Given the description of an element on the screen output the (x, y) to click on. 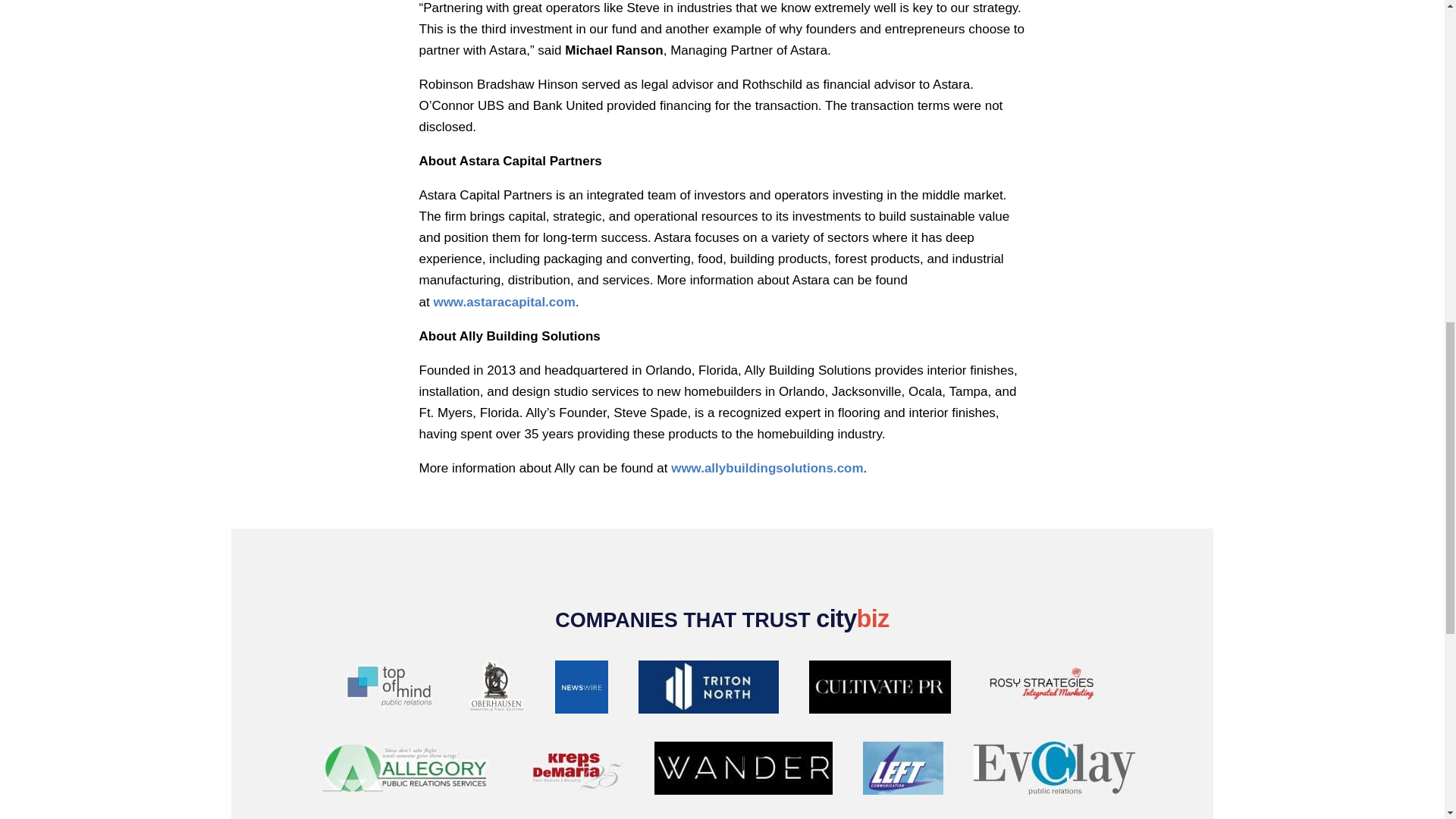
Cultivate PR (879, 689)
Triton North (708, 689)
Top of Mind PR (389, 689)
Rosy Strategies (1040, 689)
Allegory PR Services (403, 770)
Wander PR (742, 771)
Newswire (581, 689)
